Given the description of an element on the screen output the (x, y) to click on. 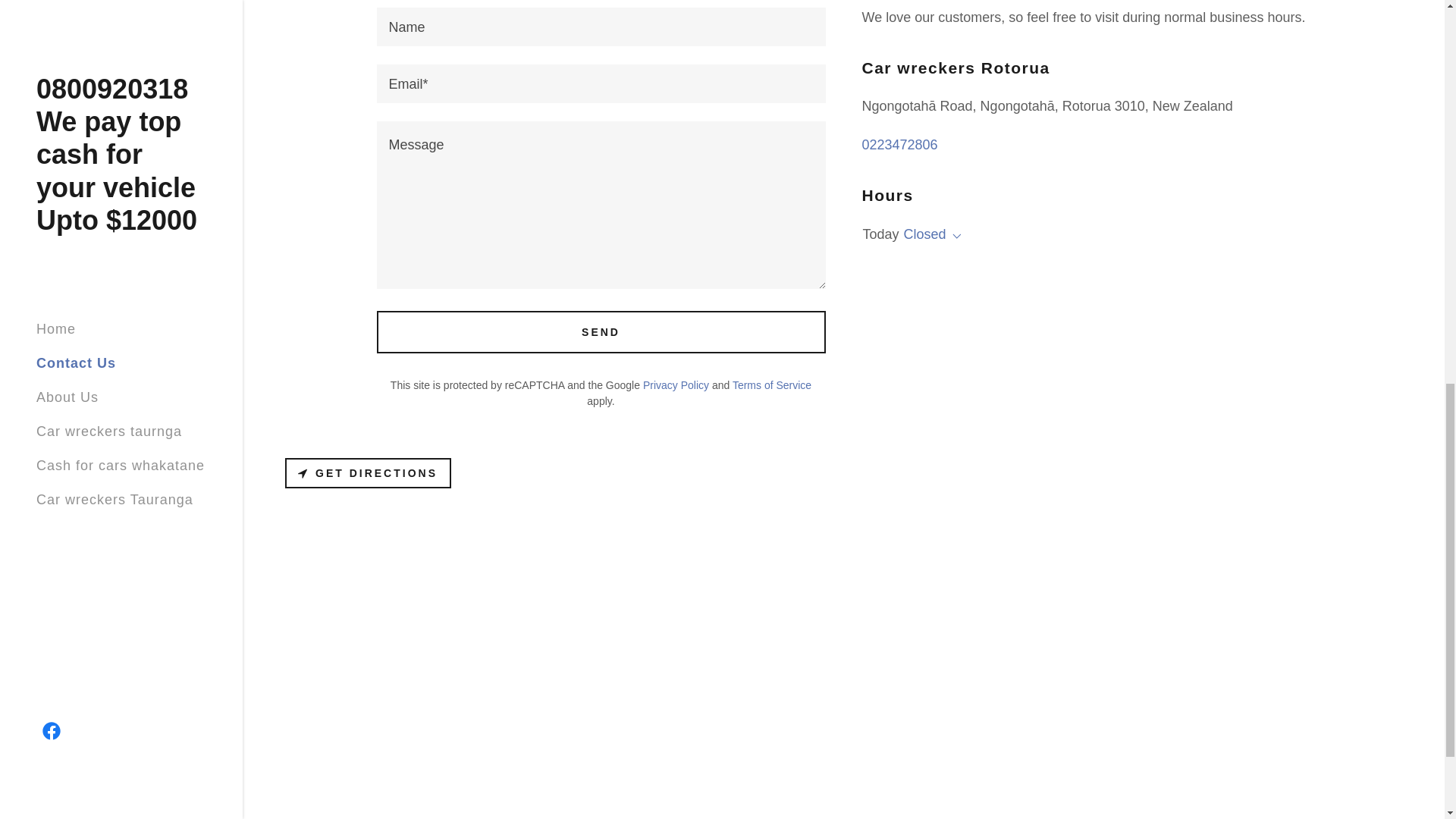
Privacy Policy (676, 385)
ACCEPT (1274, 324)
SEND (600, 331)
GET DIRECTIONS (368, 472)
Terms of Service (771, 385)
0223472806 (899, 144)
